Given the description of an element on the screen output the (x, y) to click on. 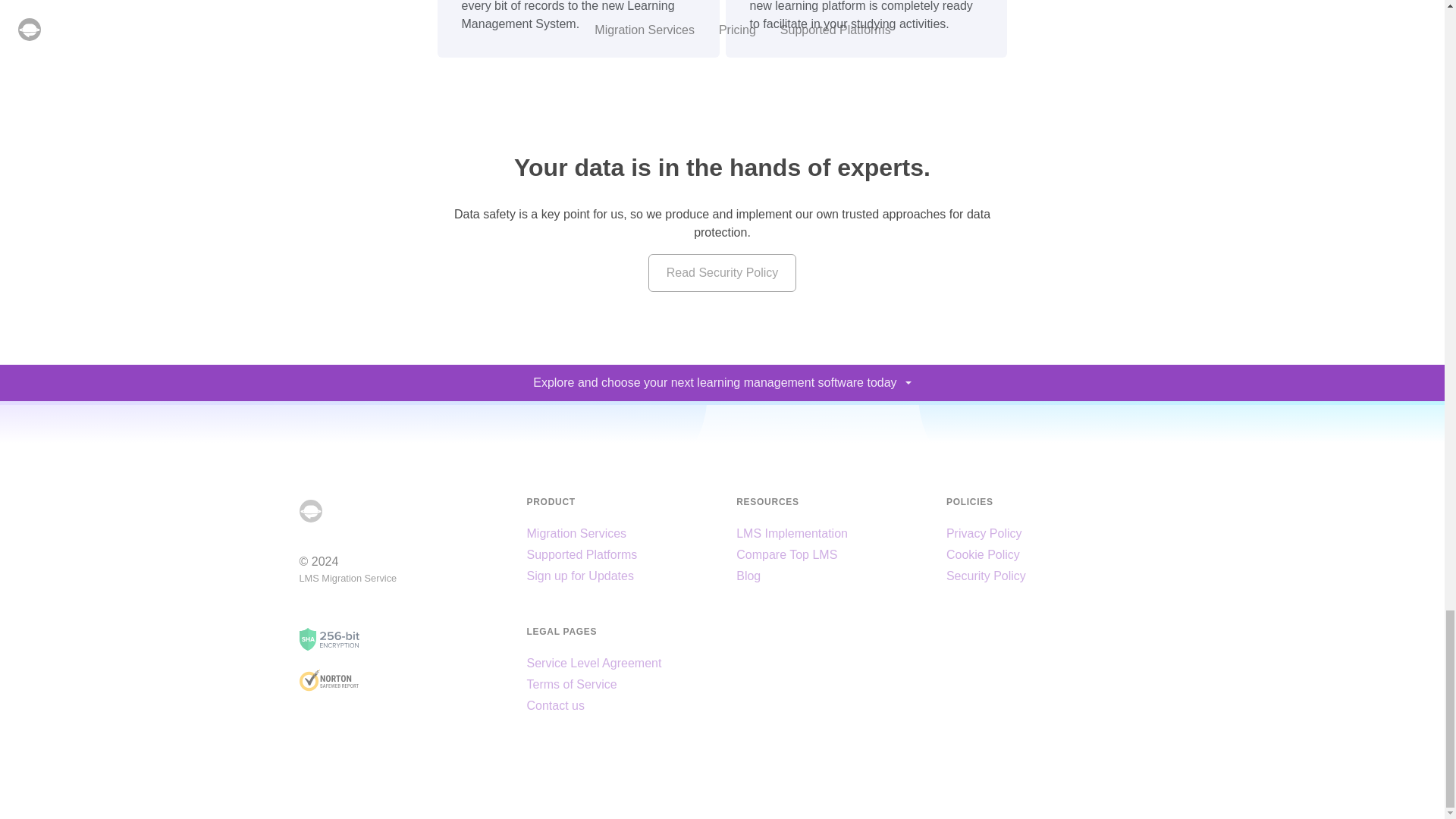
Read Security Policy (721, 272)
